Given the description of an element on the screen output the (x, y) to click on. 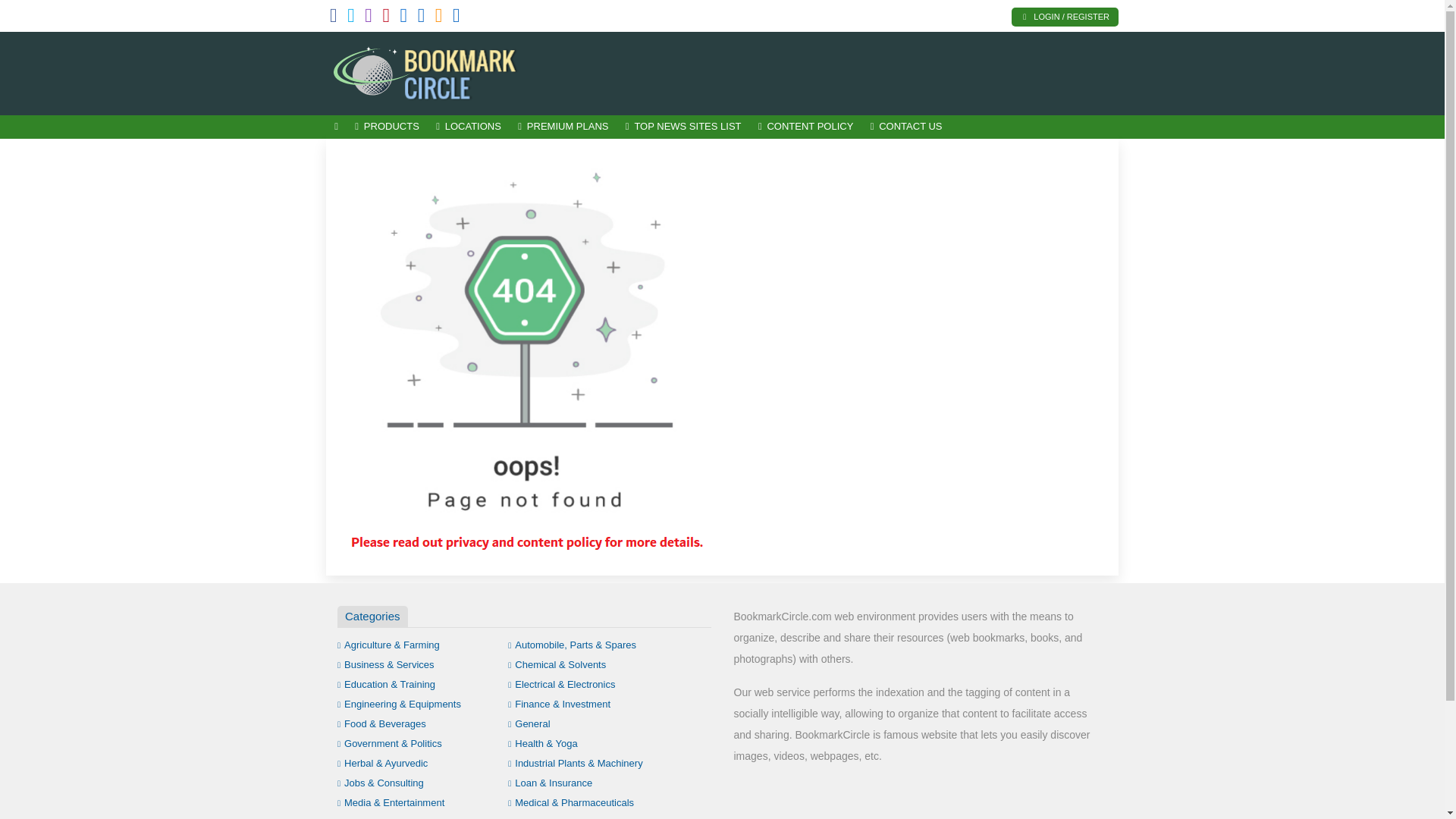
TOP NEWS SITES LIST (683, 126)
CONTACT US (905, 126)
PRODUCTS (387, 126)
CONTENT POLICY (805, 126)
PREMIUM PLANS (563, 126)
General (529, 723)
LOCATIONS (468, 126)
